Given the description of an element on the screen output the (x, y) to click on. 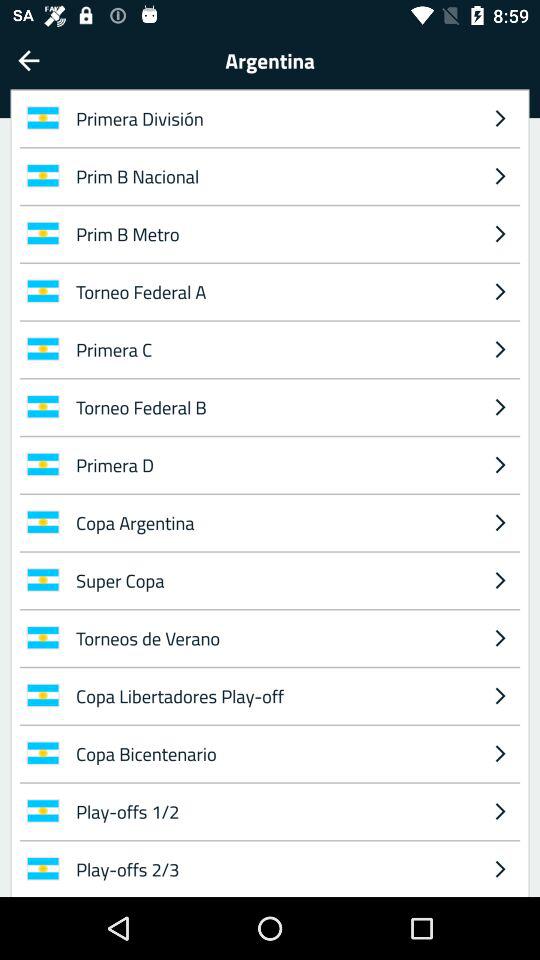
turn on primera c (273, 349)
